Given the description of an element on the screen output the (x, y) to click on. 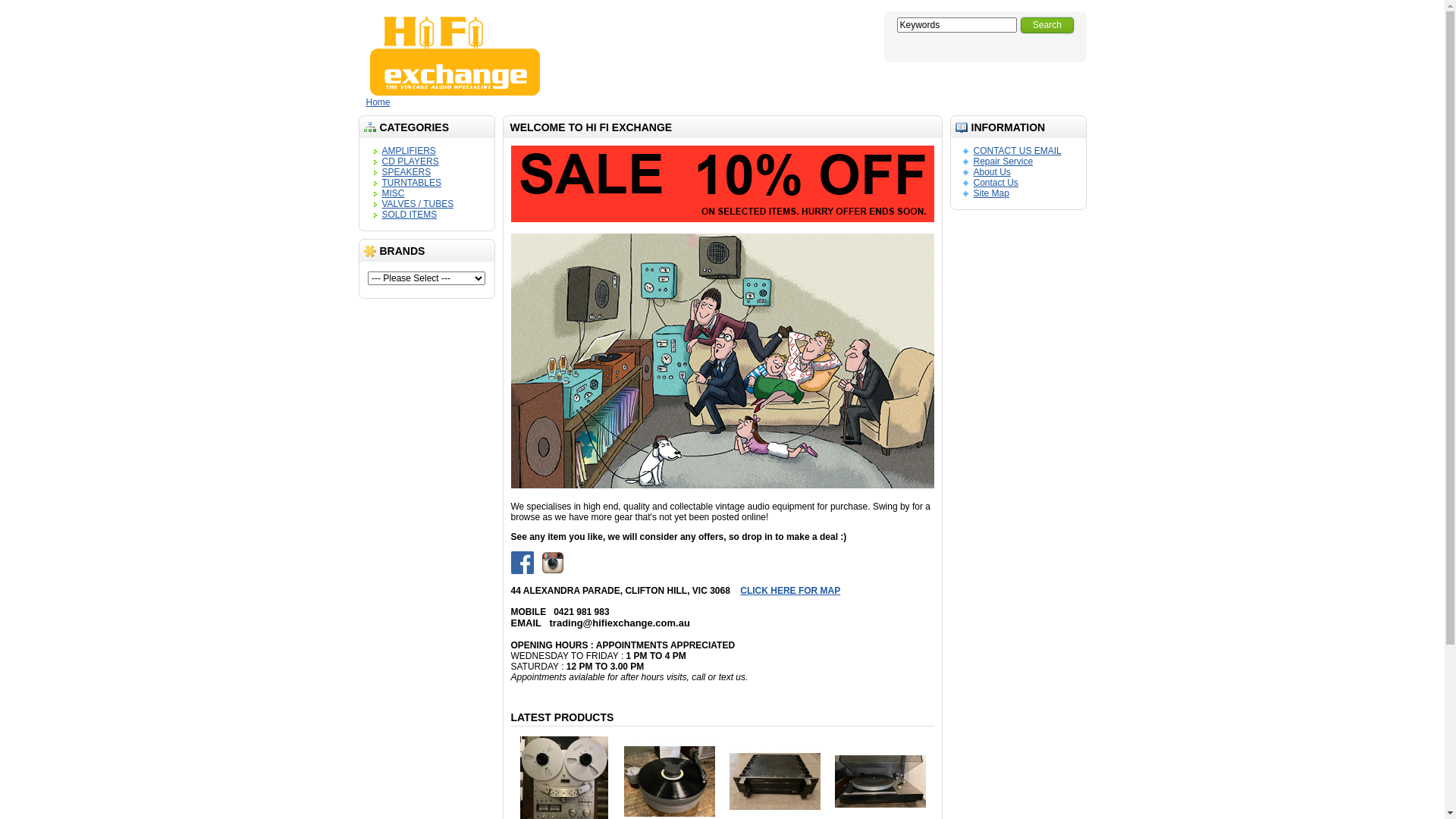
CLICK HERE FOR MAP Element type: text (905, 595)
About Us Element type: text (991, 171)
VALVES / TUBES Element type: text (418, 203)
Contact Us Element type: text (995, 182)
CD PLAYERS Element type: text (410, 161)
Site Map Element type: text (991, 193)
TURNTABLES Element type: text (411, 182)
Repair Service Element type: text (1003, 161)
Home Element type: text (377, 102)
Keywords Element type: text (956, 24)
CONTACT US EMAIL Element type: text (1017, 150)
AMPLIFIERS Element type: text (409, 150)
Hi Fi Exchange Element type: hover (454, 55)
SPEAKERS Element type: text (406, 171)
SOLD ITEMS Element type: text (409, 214)
MISC Element type: text (393, 193)
Search Element type: text (1047, 24)
